Given the description of an element on the screen output the (x, y) to click on. 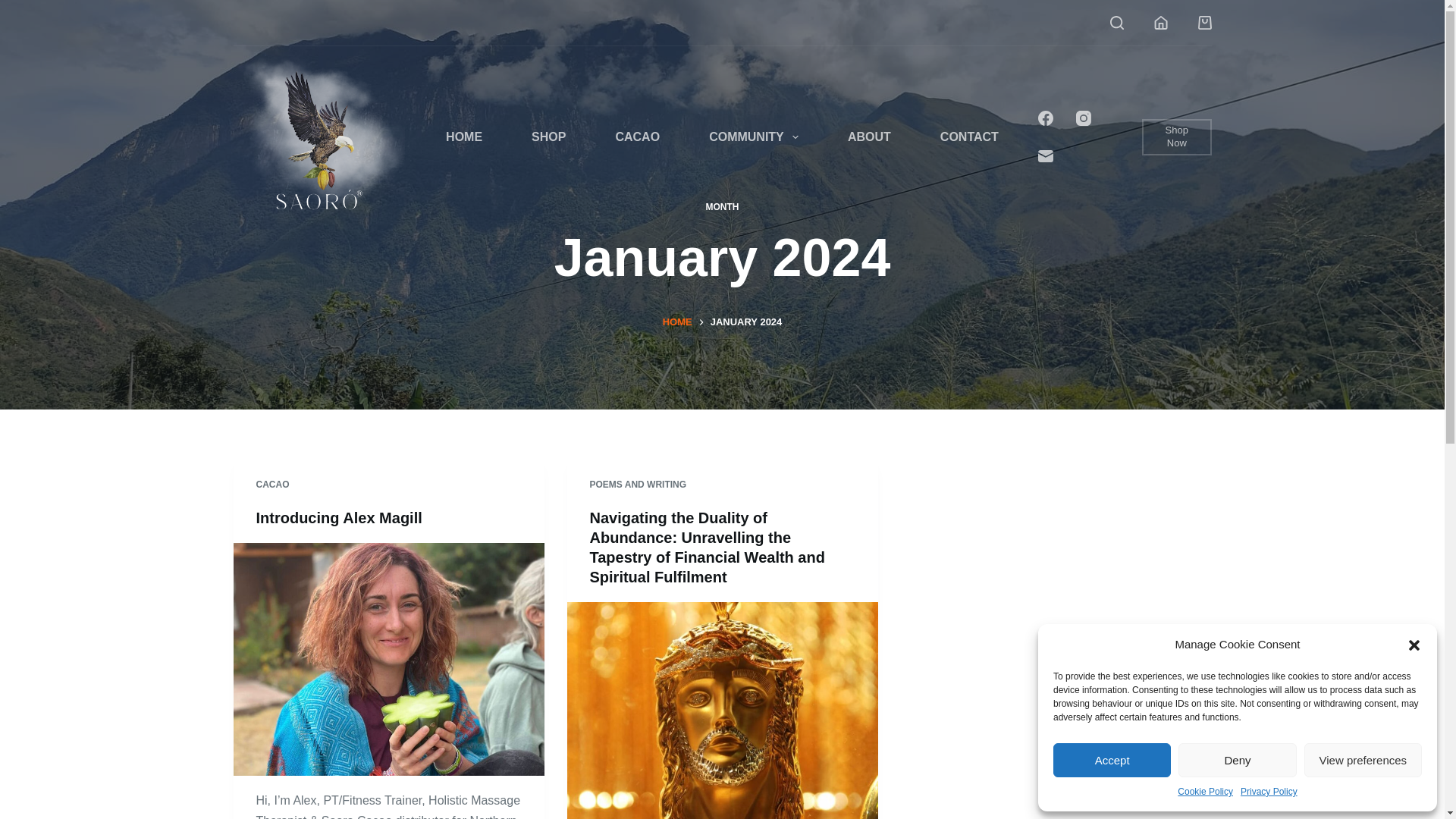
Privacy Policy (1268, 792)
Shopping cart (1204, 22)
View preferences (1363, 759)
Accept (1111, 759)
HOME (464, 136)
Skip to content (15, 7)
Cookie Policy (1205, 792)
Deny (1236, 759)
Month January 2024 (722, 248)
